Given the description of an element on the screen output the (x, y) to click on. 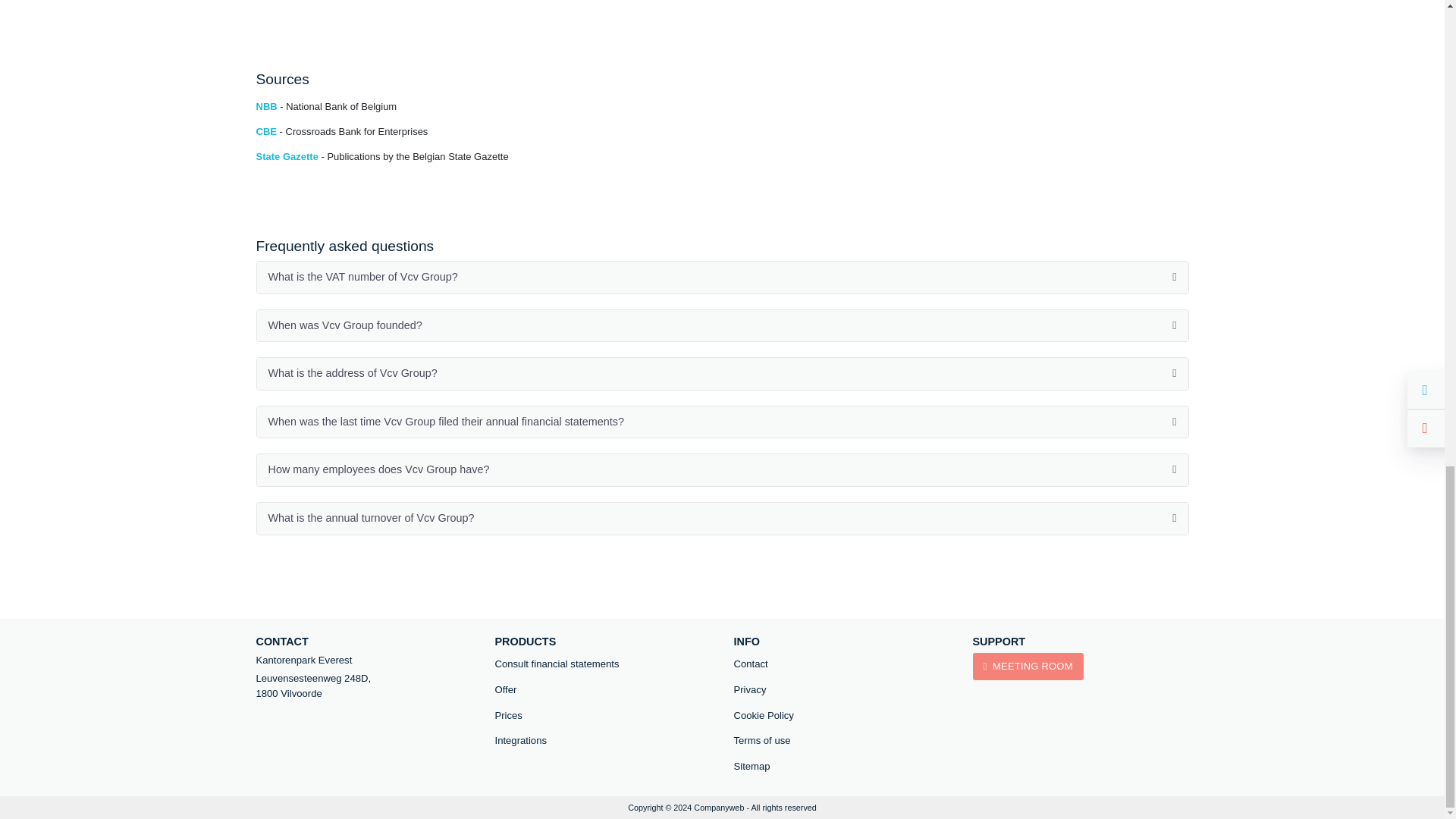
Prices (602, 715)
CBE - Crossroads Bank for Enterprises (342, 131)
Cookie Policy (841, 715)
State Gazette - Publications by the Belgian State Gazette (382, 156)
Integrations (602, 740)
Contact (841, 663)
NBB - National Bank of Belgium (326, 106)
Sitemap (841, 766)
Privacy (841, 689)
Consult financial statements (602, 663)
Offer (602, 689)
Terms of use (841, 740)
